Given the description of an element on the screen output the (x, y) to click on. 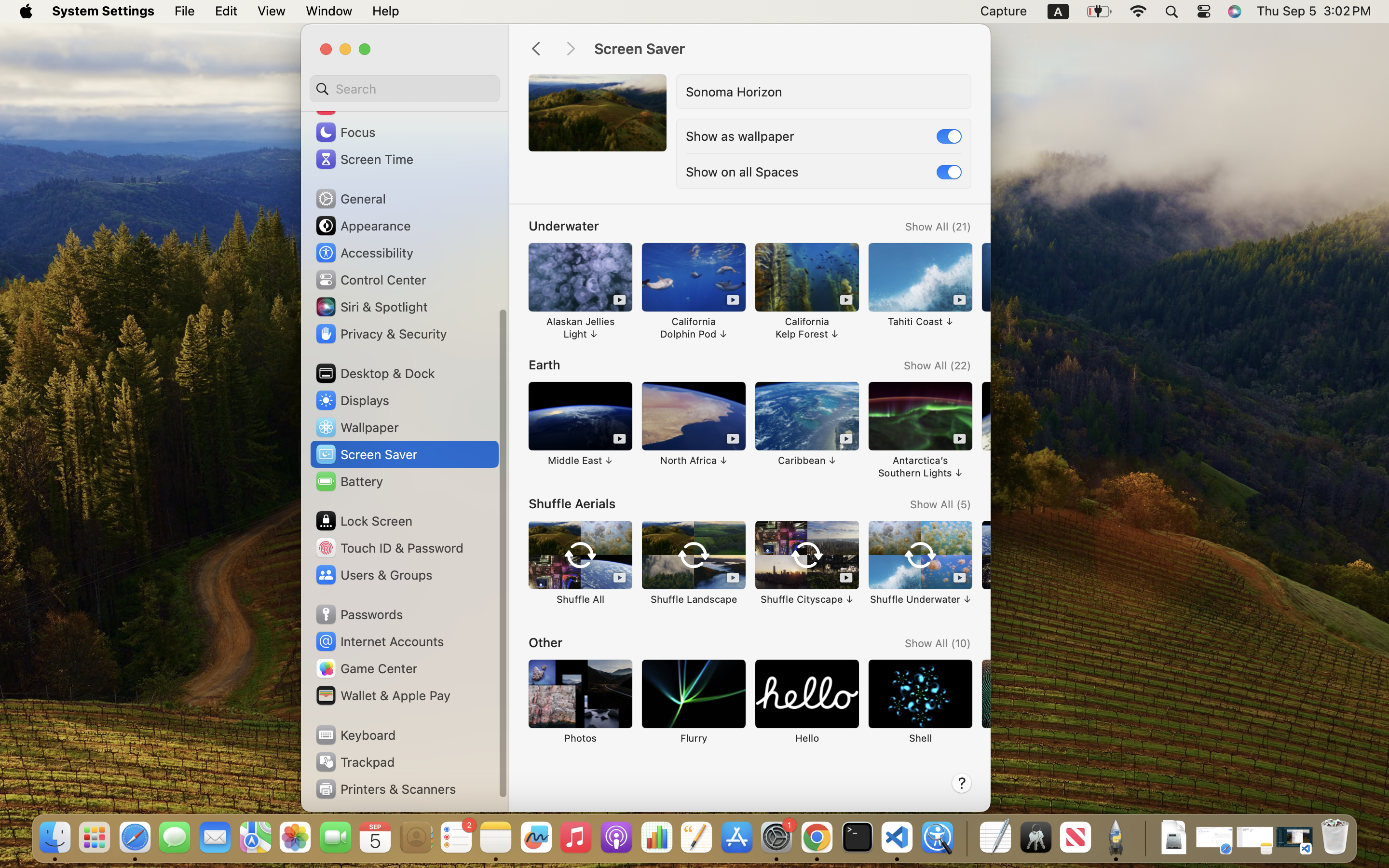
General Element type: AXStaticText (349, 198)
Other Element type: AXStaticText (545, 642)
Show as wallpaper Element type: AXStaticText (739, 135)
Screen Time Element type: AXStaticText (363, 158)
Show on all Spaces Element type: AXStaticText (741, 171)
